Given the description of an element on the screen output the (x, y) to click on. 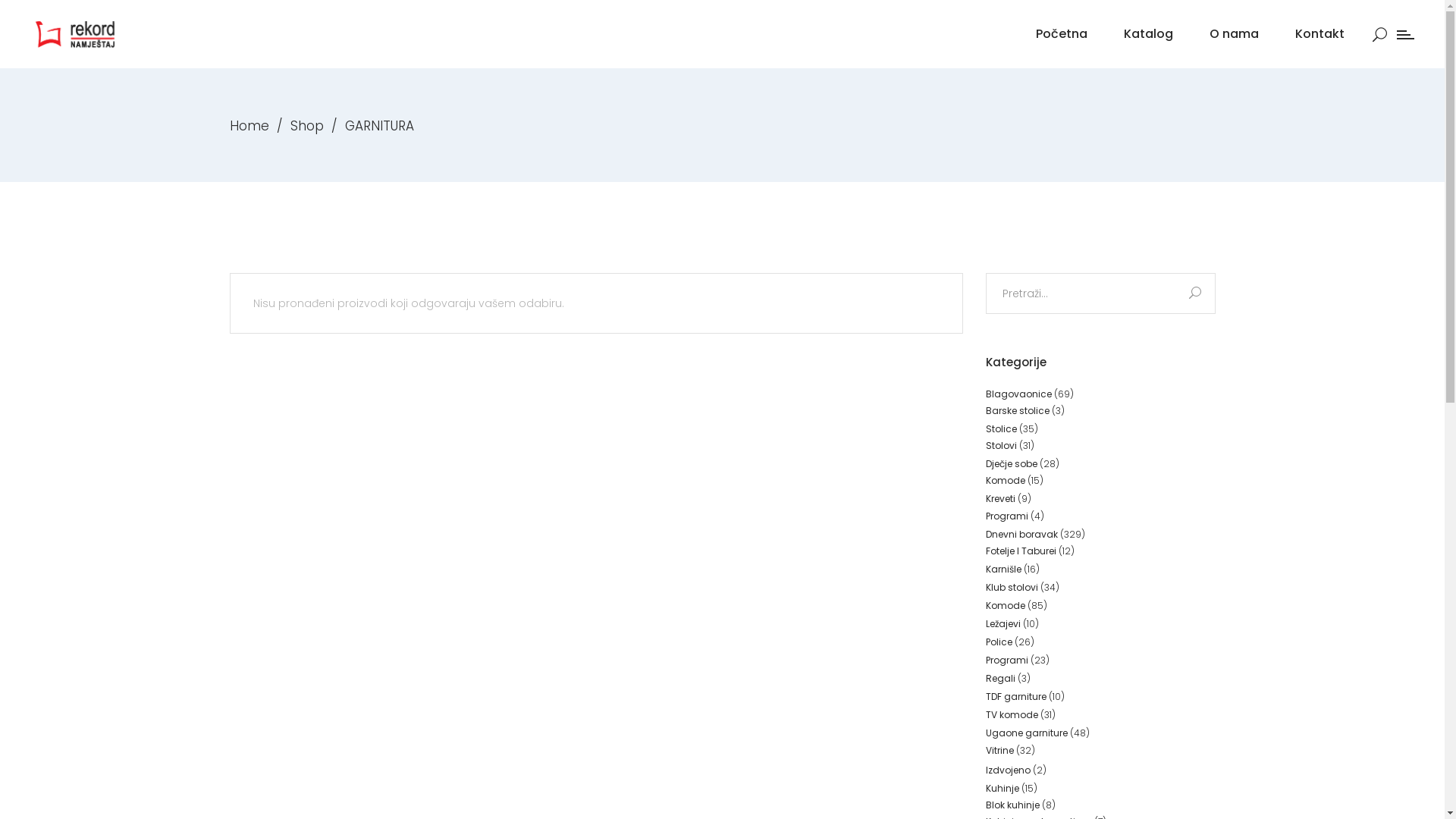
TDF garniture Element type: text (1015, 696)
Barske stolice Element type: text (1017, 409)
Kuhinje Element type: text (1002, 787)
Kreveti Element type: text (1000, 498)
Regali Element type: text (1000, 677)
Stolovi Element type: text (1000, 445)
Kontakt Element type: text (1319, 34)
Komode Element type: text (1005, 479)
Komode Element type: text (1005, 605)
Search for: Element type: hover (1080, 293)
Blok kuhinje Element type: text (1012, 804)
Katalog Element type: text (1148, 34)
O nama Element type: text (1234, 34)
Home Element type: text (248, 125)
Police Element type: text (998, 641)
Stolice Element type: text (1000, 427)
Shop Element type: text (306, 125)
Fotelje I Taburei Element type: text (1020, 550)
TV komode Element type: text (1011, 714)
Vitrine Element type: text (999, 749)
Izdvojeno Element type: text (1007, 769)
Klub stolovi Element type: text (1011, 586)
Blagovaonice Element type: text (1018, 392)
Programi Element type: text (1006, 659)
Dnevni boravak Element type: text (1021, 533)
Ugaone garniture Element type: text (1026, 732)
Programi Element type: text (1006, 515)
